Given the description of an element on the screen output the (x, y) to click on. 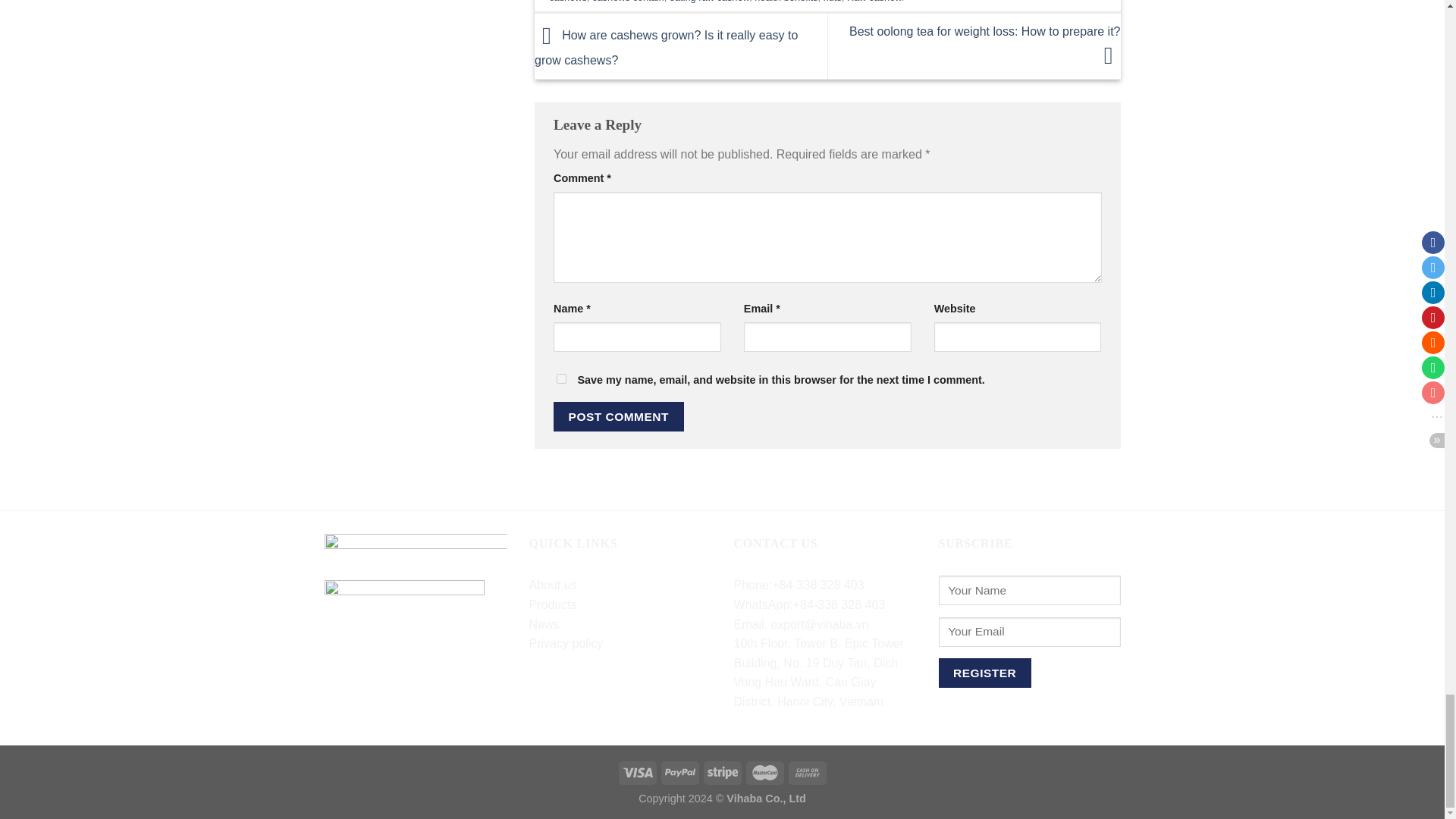
Post Comment (618, 416)
REGISTER (984, 672)
yes (561, 378)
